Given the description of an element on the screen output the (x, y) to click on. 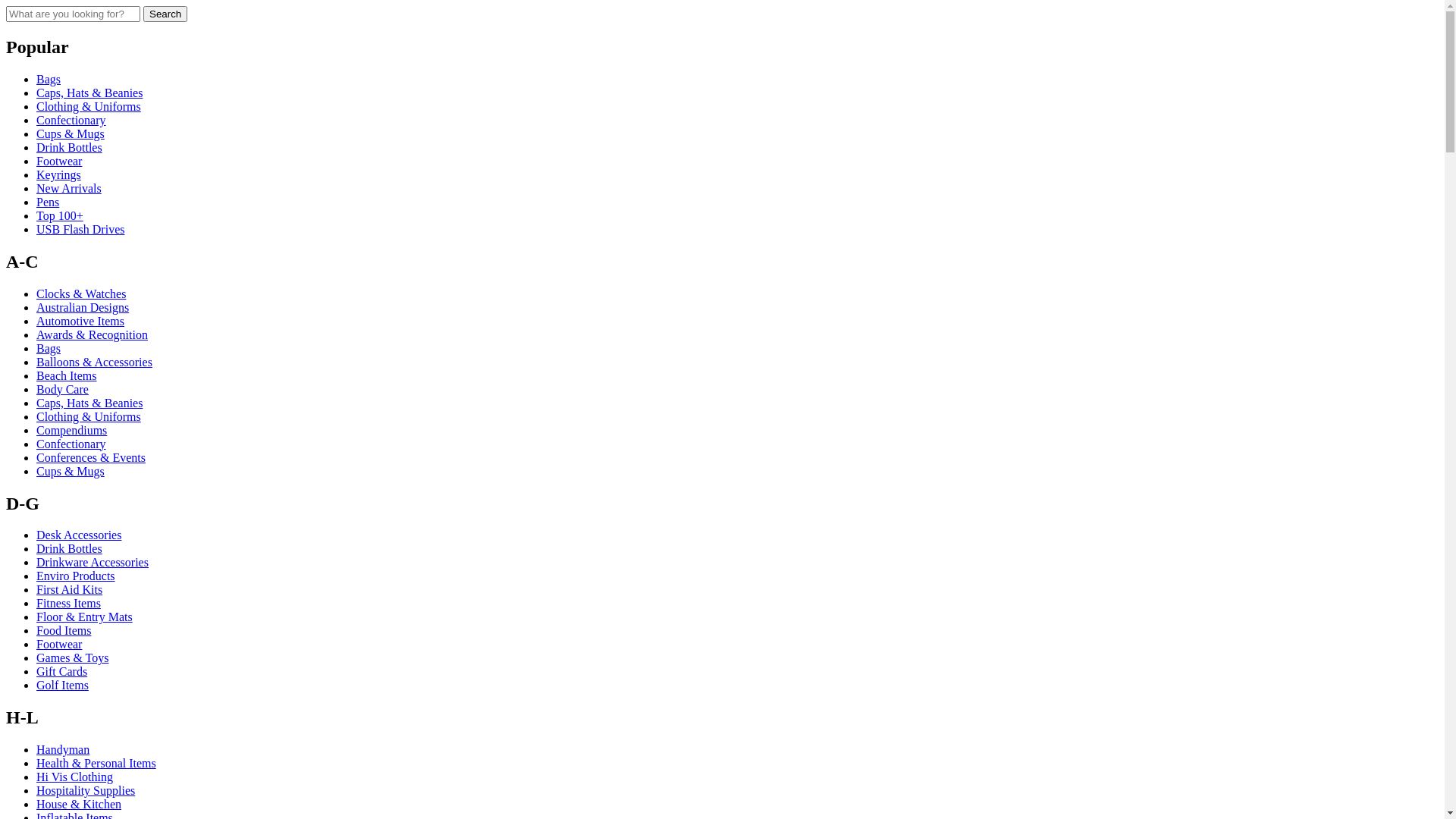
Compendiums Element type: text (71, 429)
Golf Items Element type: text (62, 684)
Footwear Element type: text (58, 643)
Hospitality Supplies Element type: text (85, 790)
Clothing & Uniforms Element type: text (88, 106)
House & Kitchen Element type: text (78, 803)
Pens Element type: text (47, 201)
Desk Accessories Element type: text (78, 534)
Balloons & Accessories Element type: text (94, 361)
Games & Toys Element type: text (72, 657)
Food Items Element type: text (63, 630)
Beach Items Element type: text (66, 375)
First Aid Kits Element type: text (69, 589)
Bags Element type: text (48, 78)
Caps, Hats & Beanies Element type: text (89, 92)
Hi Vis Clothing Element type: text (74, 776)
Enviro Products Element type: text (75, 575)
Handyman Element type: text (62, 749)
Drink Bottles Element type: text (69, 147)
Australian Designs Element type: text (82, 307)
Health & Personal Items Element type: text (96, 762)
Bags Element type: text (48, 348)
Cups & Mugs Element type: text (70, 470)
Search Element type: text (165, 13)
New Arrivals Element type: text (68, 188)
Clothing & Uniforms Element type: text (88, 416)
Drink Bottles Element type: text (69, 548)
Confectionary Element type: text (71, 443)
Caps, Hats & Beanies Element type: text (89, 402)
Search for: Element type: hover (73, 13)
Awards & Recognition Element type: text (91, 334)
Fitness Items Element type: text (68, 602)
Automotive Items Element type: text (80, 320)
Cups & Mugs Element type: text (70, 133)
USB Flash Drives Element type: text (80, 228)
Floor & Entry Mats Element type: text (84, 616)
Gift Cards Element type: text (61, 671)
Clocks & Watches Element type: text (80, 293)
Body Care Element type: text (62, 388)
Footwear Element type: text (58, 160)
Drinkware Accessories Element type: text (92, 561)
Confectionary Element type: text (71, 119)
Conferences & Events Element type: text (90, 457)
Top 100+ Element type: text (59, 215)
Keyrings Element type: text (58, 174)
